Given the description of an element on the screen output the (x, y) to click on. 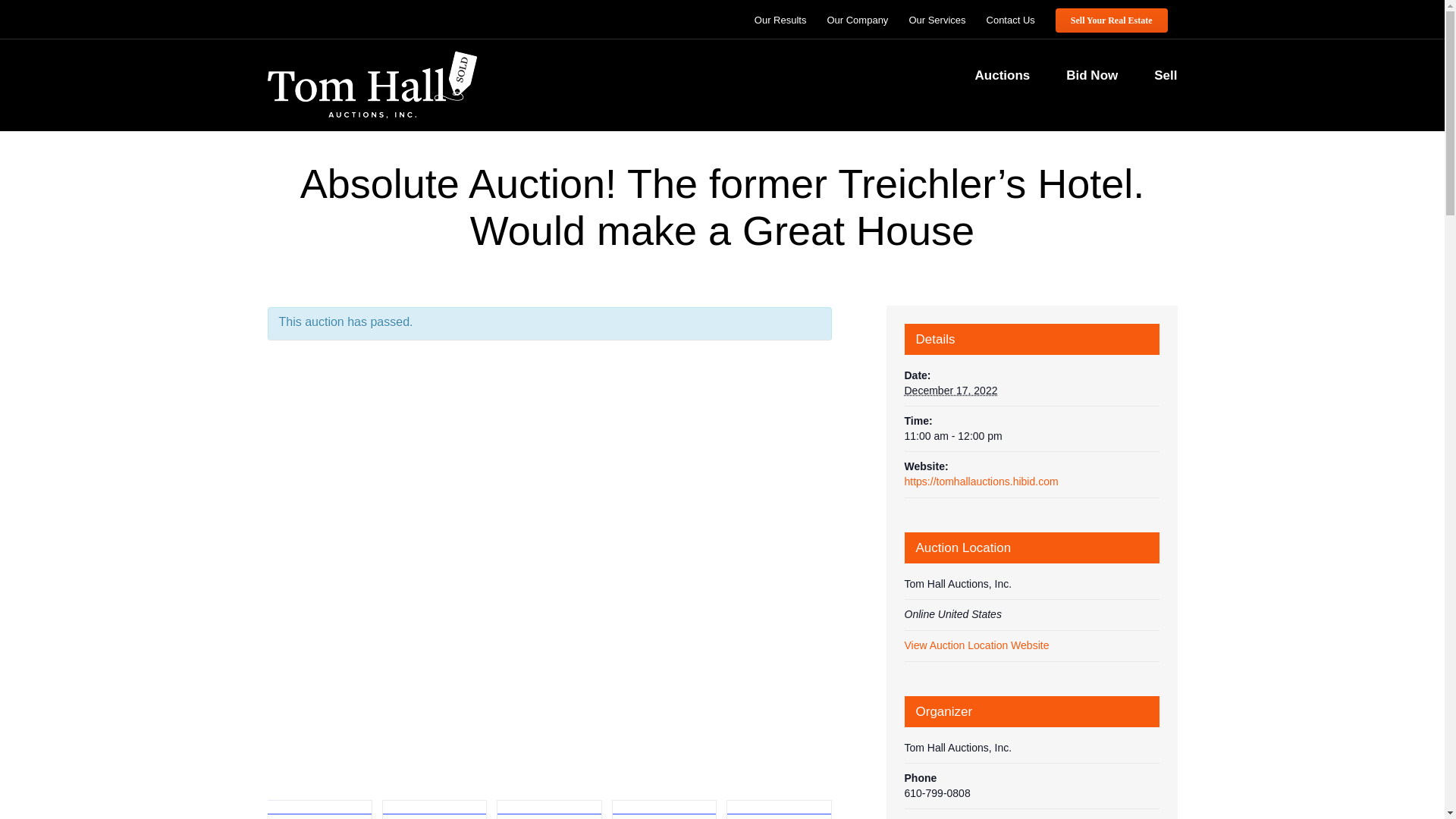
Sell Your Real Estate (1111, 20)
2022-12-17 (950, 390)
Our Company (857, 20)
Our Results (780, 20)
2022-12-17 (1031, 436)
Our Services (936, 20)
Contact Us (1010, 20)
